Given the description of an element on the screen output the (x, y) to click on. 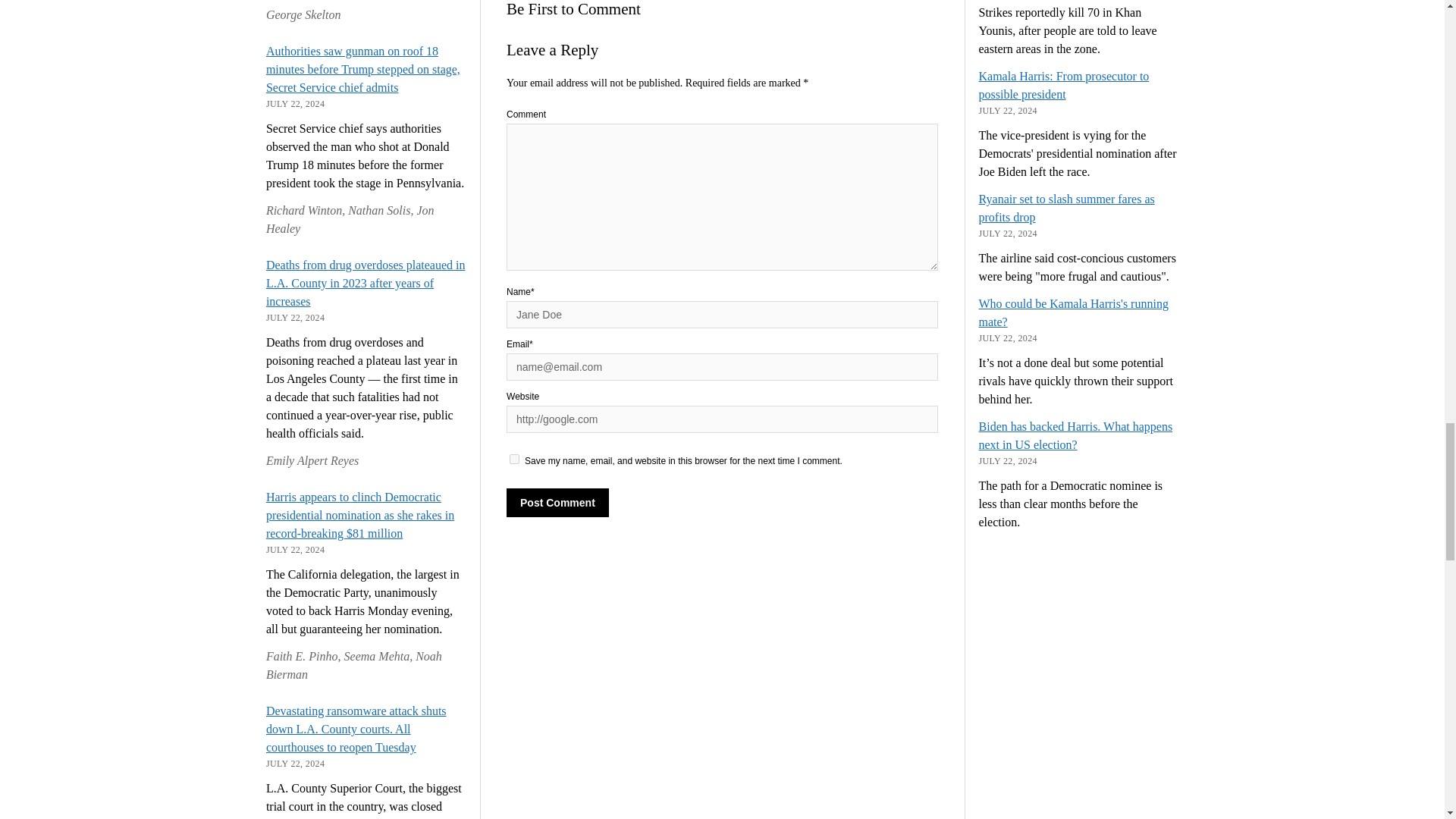
yes (514, 459)
Post Comment (557, 502)
